Given the description of an element on the screen output the (x, y) to click on. 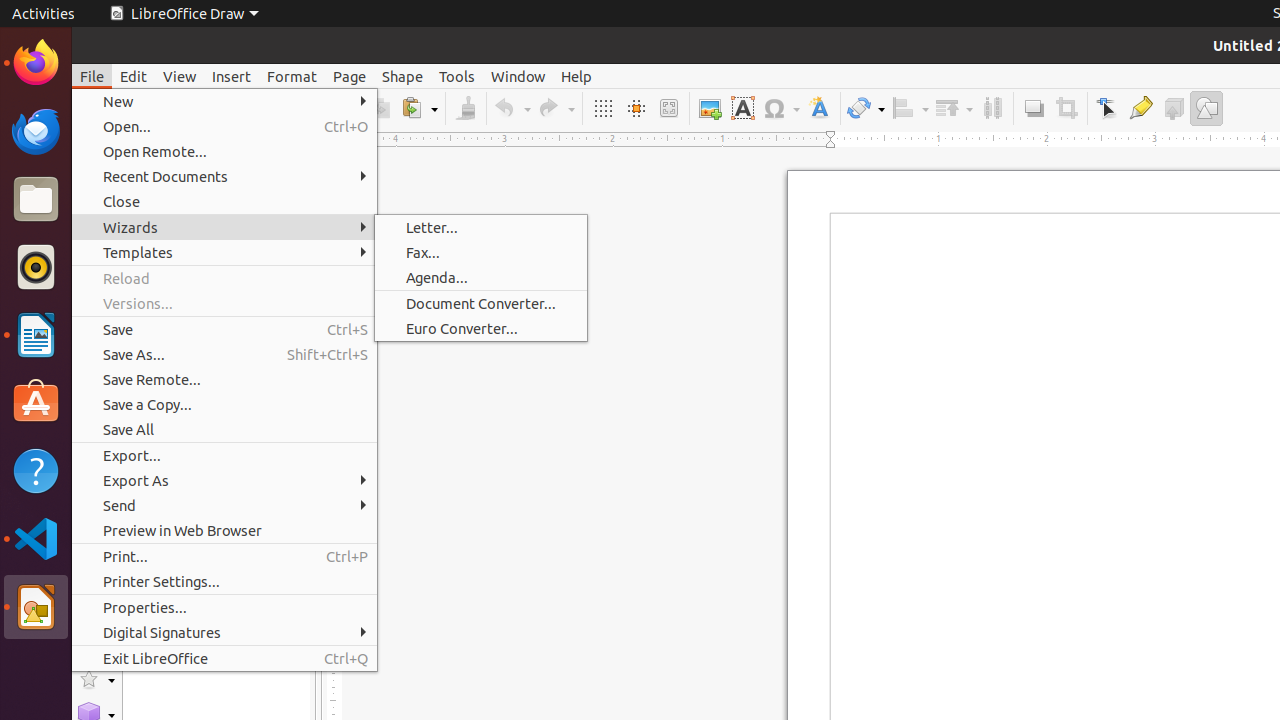
Print... Element type: menu-item (224, 556)
Export... Element type: menu-item (224, 455)
Properties... Element type: menu-item (224, 607)
Transformations Element type: push-button (866, 108)
Grid Element type: toggle-button (602, 108)
